Given the description of an element on the screen output the (x, y) to click on. 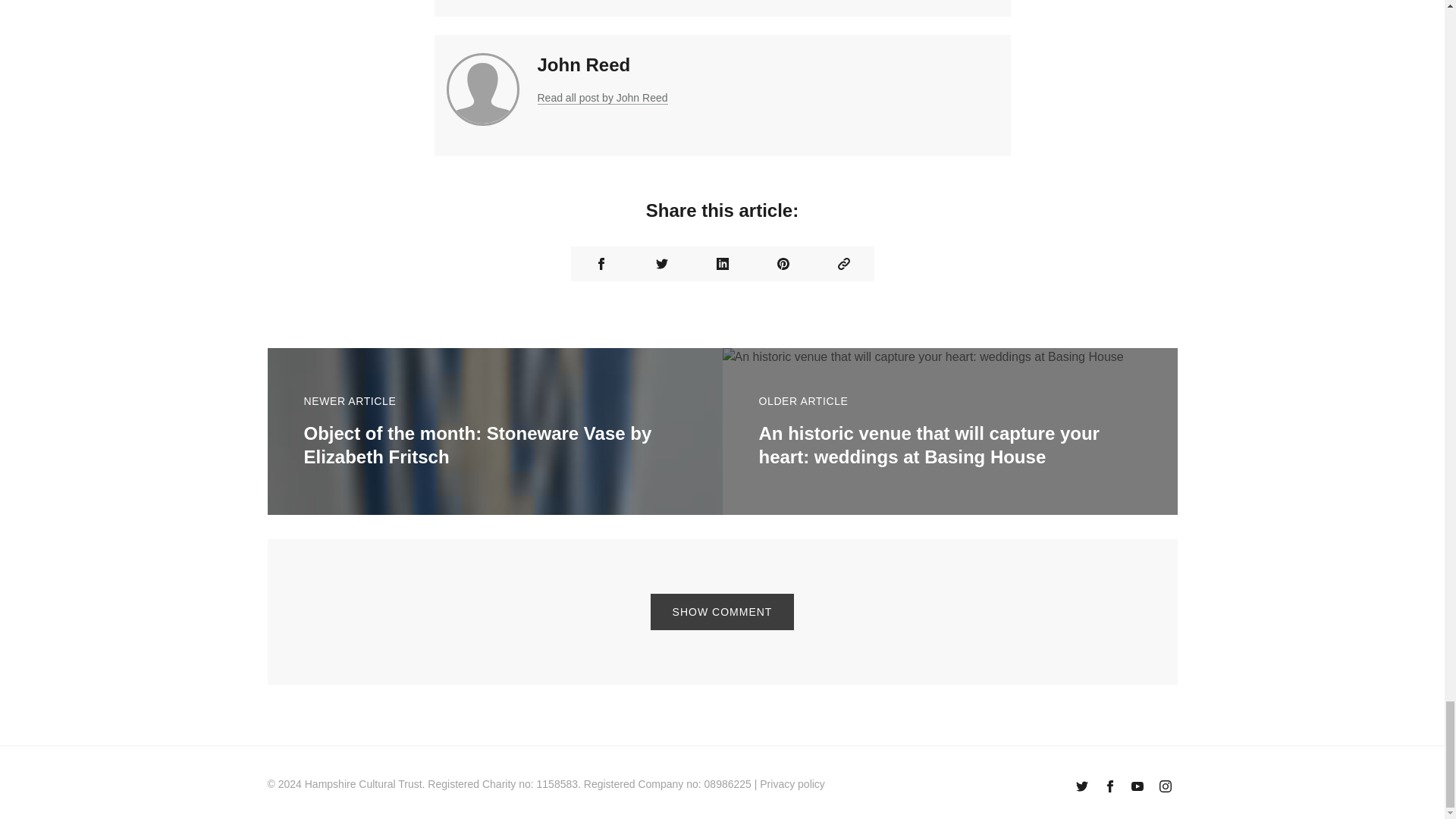
Share on Twitter (660, 263)
Hampshire Cultural Trust (363, 784)
SHOW COMMENT (722, 611)
Share on Pinterest (782, 263)
John Reed (583, 64)
Copy the permalink (842, 263)
Share on Linkedin (721, 263)
Read all post by John Reed (601, 97)
Object of the month: Stoneware Vase by Elizabeth Fritsch (476, 444)
